Given the description of an element on the screen output the (x, y) to click on. 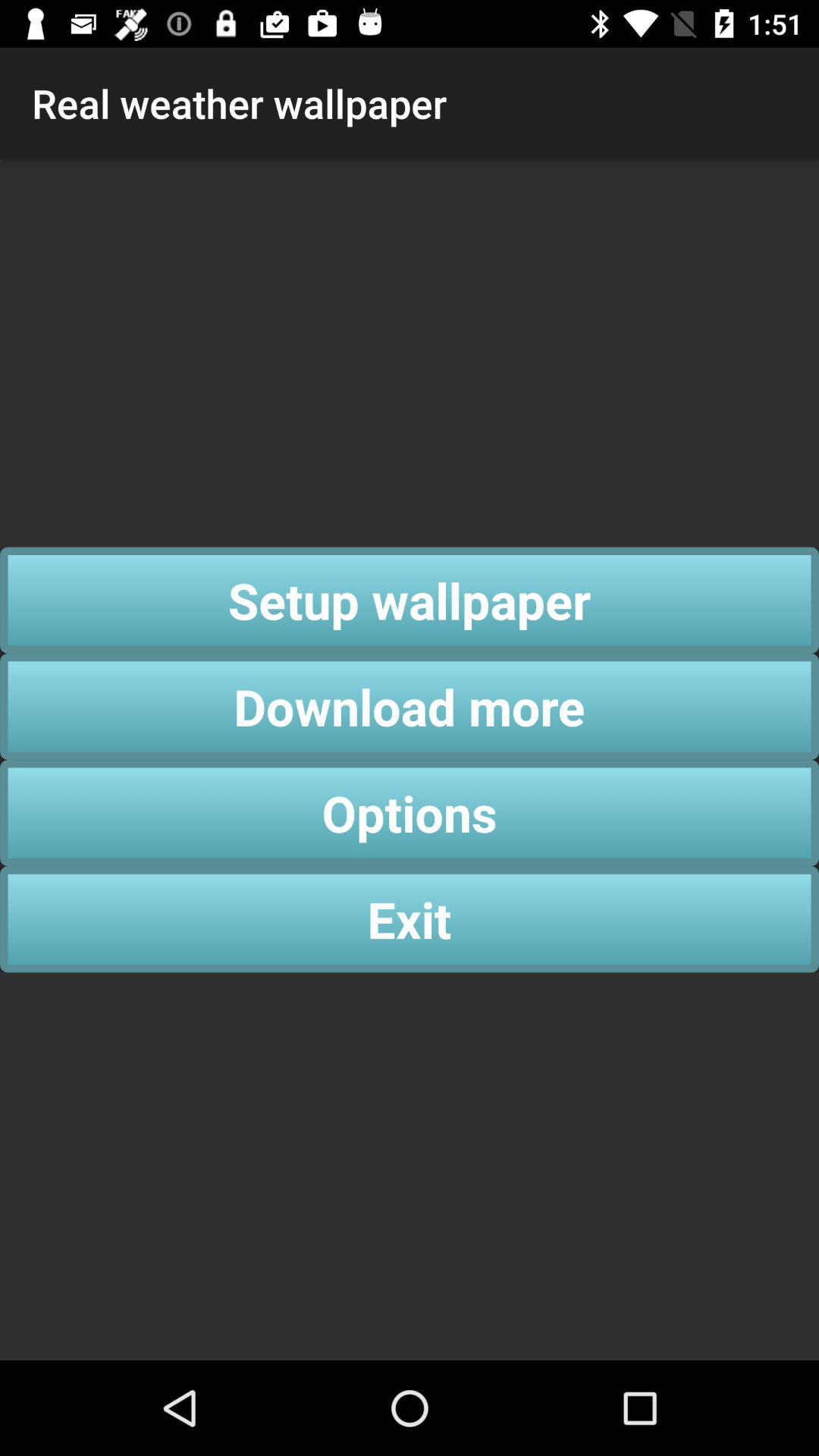
swipe until setup wallpaper item (409, 600)
